Given the description of an element on the screen output the (x, y) to click on. 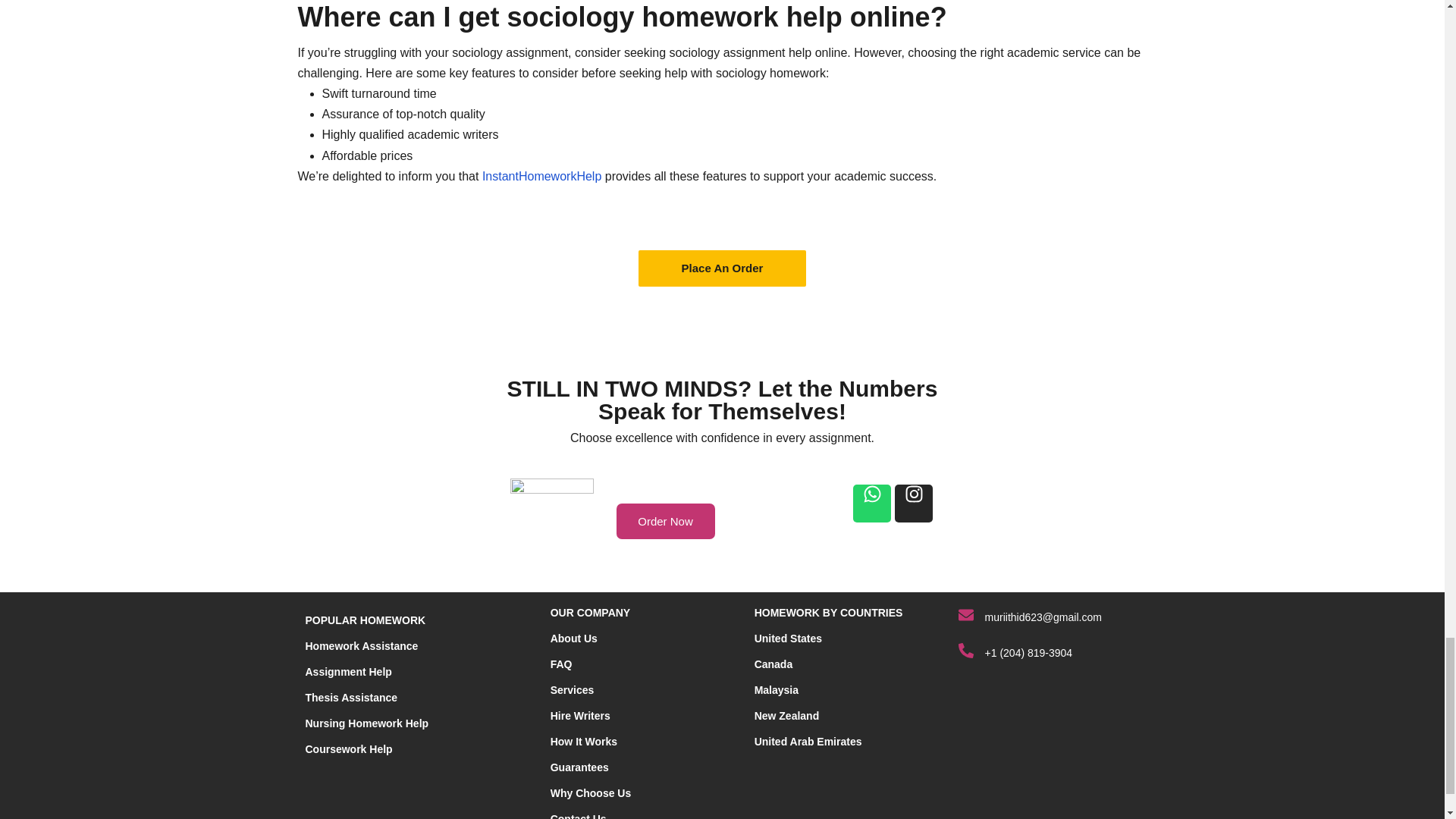
Homework Assistance (360, 645)
InstantHomeworkHelp (541, 175)
Order Now (664, 520)
Coursework Help (347, 748)
About Us (573, 638)
Nursing Homework Help (366, 723)
Thesis Assistance (350, 697)
FAQ (561, 664)
Contact Us (578, 816)
Place An Order (722, 267)
Why Choose Us (590, 793)
Hire Writers (580, 715)
Assignment Help (347, 671)
Services (572, 689)
Guarantees (579, 767)
